Given the description of an element on the screen output the (x, y) to click on. 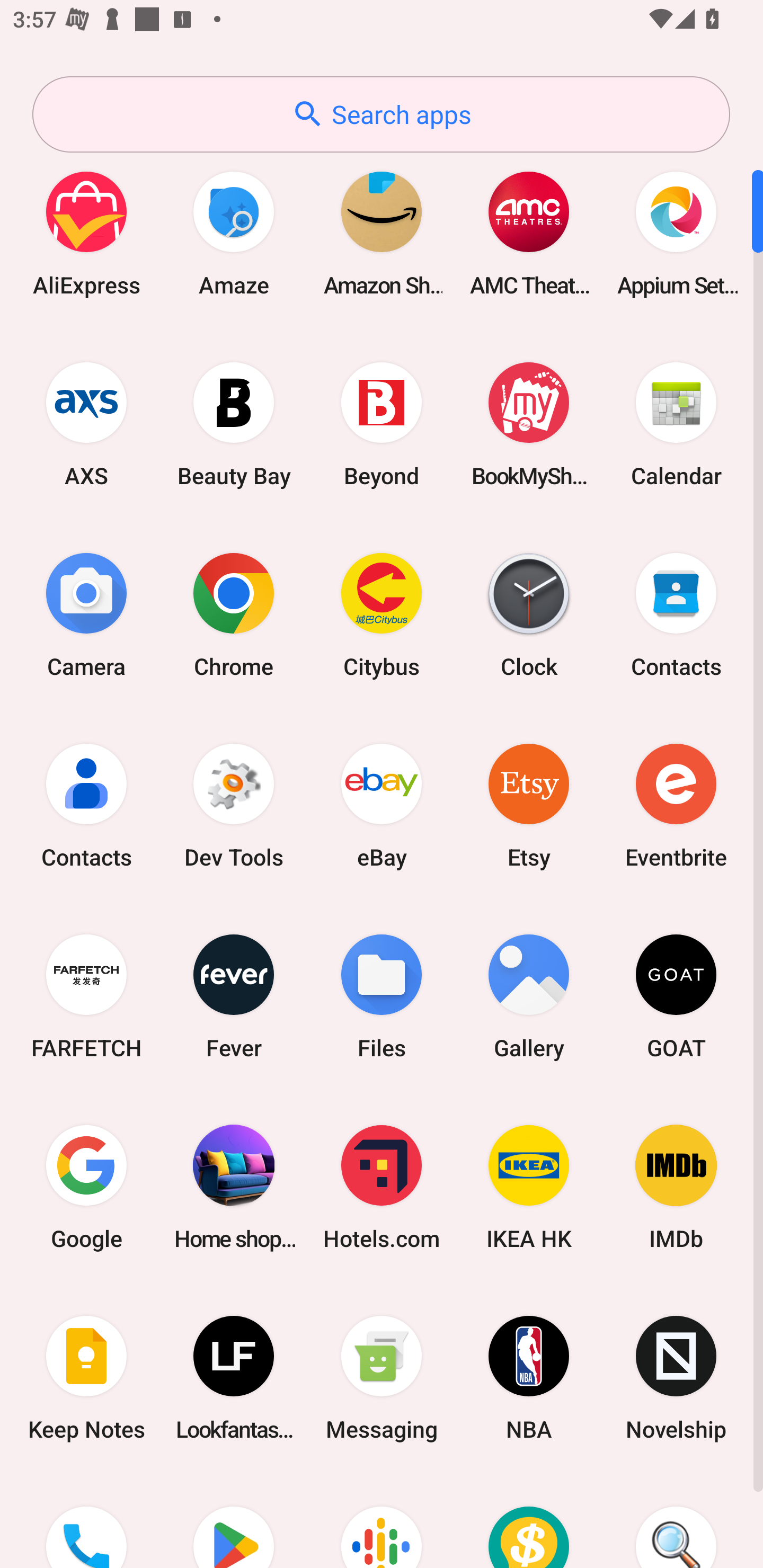
  Search apps (381, 114)
AliExpress (86, 233)
Amaze (233, 233)
Amazon Shopping (381, 233)
AMC Theatres (528, 233)
Appium Settings (676, 233)
AXS (86, 424)
Beauty Bay (233, 424)
Beyond (381, 424)
BookMyShow (528, 424)
Calendar (676, 424)
Camera (86, 614)
Chrome (233, 614)
Citybus (381, 614)
Clock (528, 614)
Contacts (676, 614)
Contacts (86, 805)
Dev Tools (233, 805)
eBay (381, 805)
Etsy (528, 805)
Eventbrite (676, 805)
FARFETCH (86, 996)
Fever (233, 996)
Files (381, 996)
Gallery (528, 996)
GOAT (676, 996)
Google (86, 1186)
Home shopping (233, 1186)
Hotels.com (381, 1186)
IKEA HK (528, 1186)
IMDb (676, 1186)
Keep Notes (86, 1377)
Lookfantastic (233, 1377)
Messaging (381, 1377)
NBA (528, 1377)
Novelship (676, 1377)
Phone (86, 1520)
Play Store (233, 1520)
Podcasts (381, 1520)
Price (528, 1520)
Search (676, 1520)
